Given the description of an element on the screen output the (x, y) to click on. 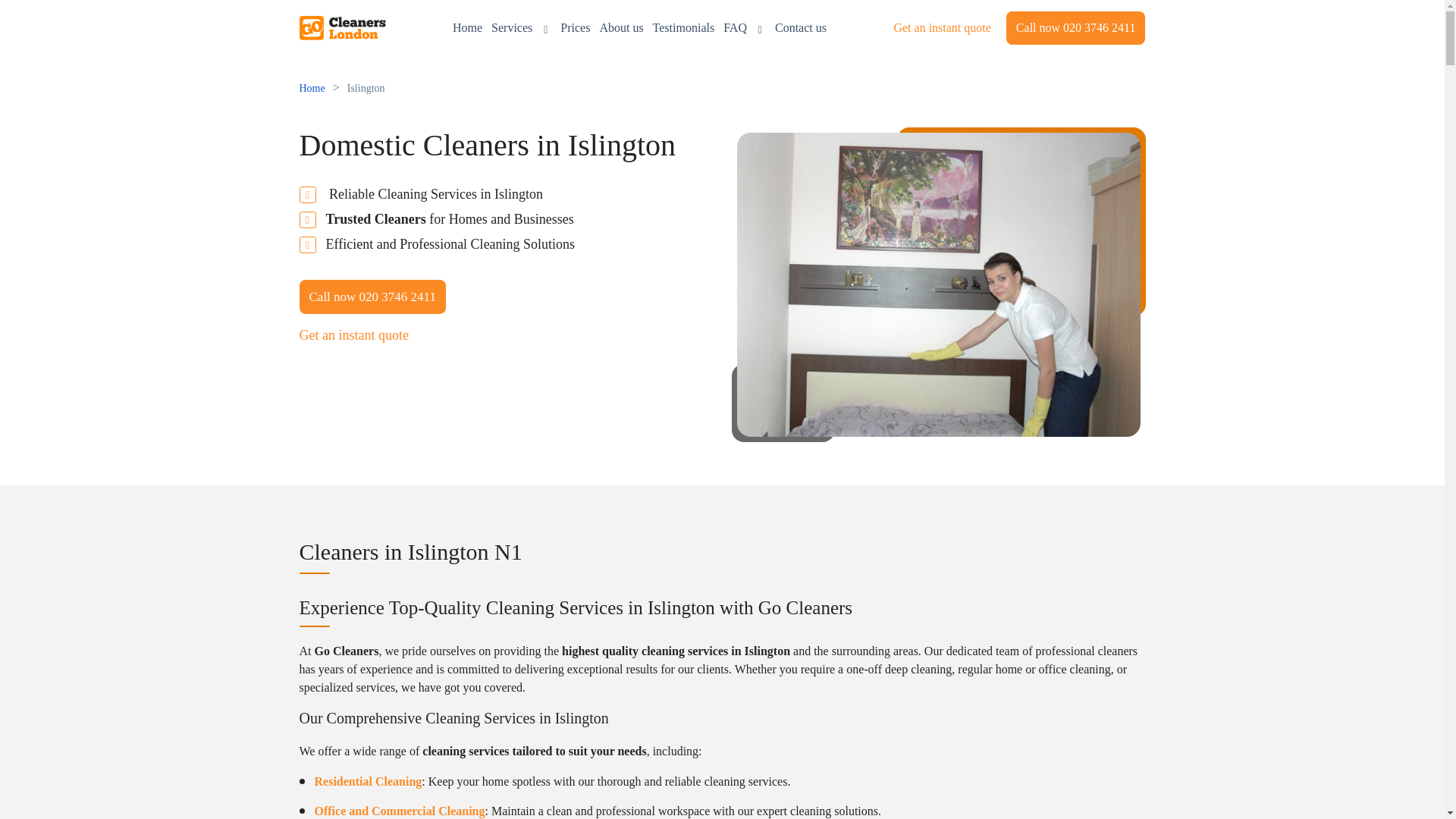
Home (466, 27)
Contact Go Cleaners (800, 27)
About Go Cleaners (620, 27)
Cleaning services (521, 27)
Testimonials (683, 27)
Testimonials (683, 27)
FAQ (744, 27)
Services (521, 27)
Call Go Cleaners on 020 3746 2411 (1075, 28)
Call Go Cleaners on 020 3746 2411 (371, 297)
